Given the description of an element on the screen output the (x, y) to click on. 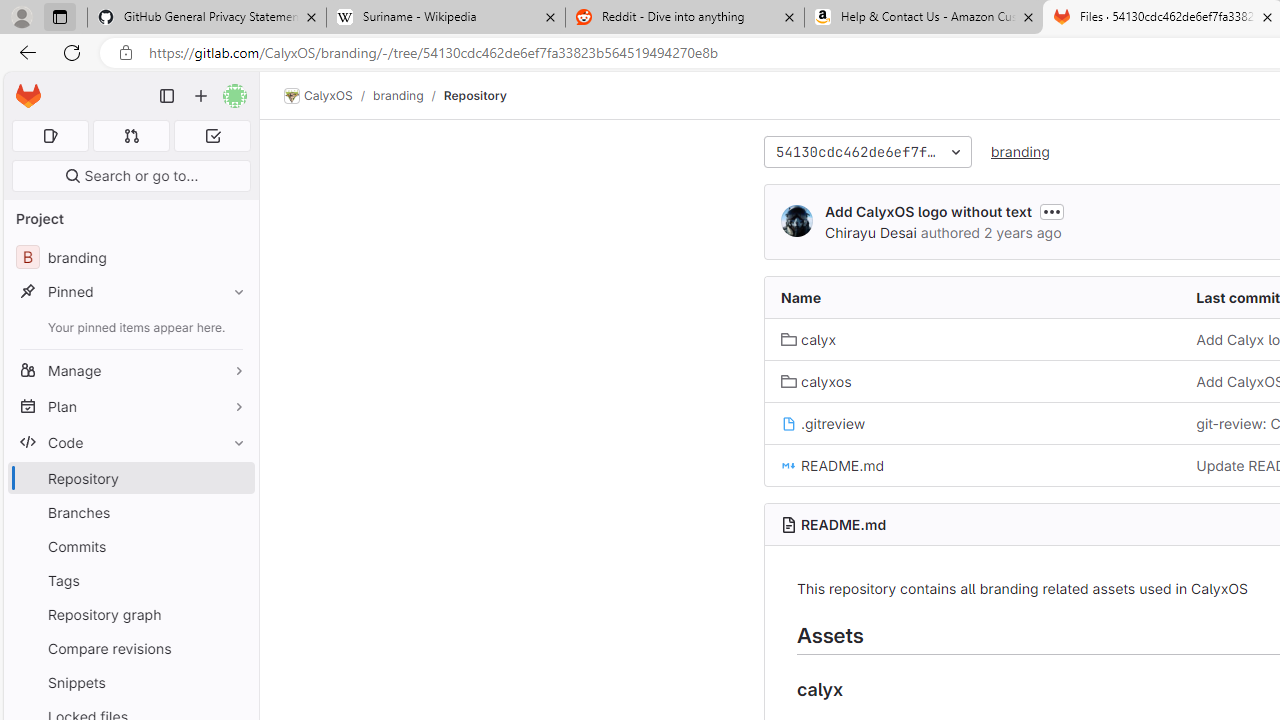
Chirayu Desai's avatar (796, 220)
calyxos (816, 380)
Pin Snippets (234, 682)
B branding (130, 257)
Repository (474, 95)
Add CalyxOS logo without text (928, 210)
branding (1019, 151)
Merge requests 0 (131, 136)
Homepage (27, 96)
Create new... (201, 96)
branding/ (408, 95)
branding (1019, 151)
Pin Compare revisions (234, 647)
Chirayu Desai's avatar (796, 222)
